Given the description of an element on the screen output the (x, y) to click on. 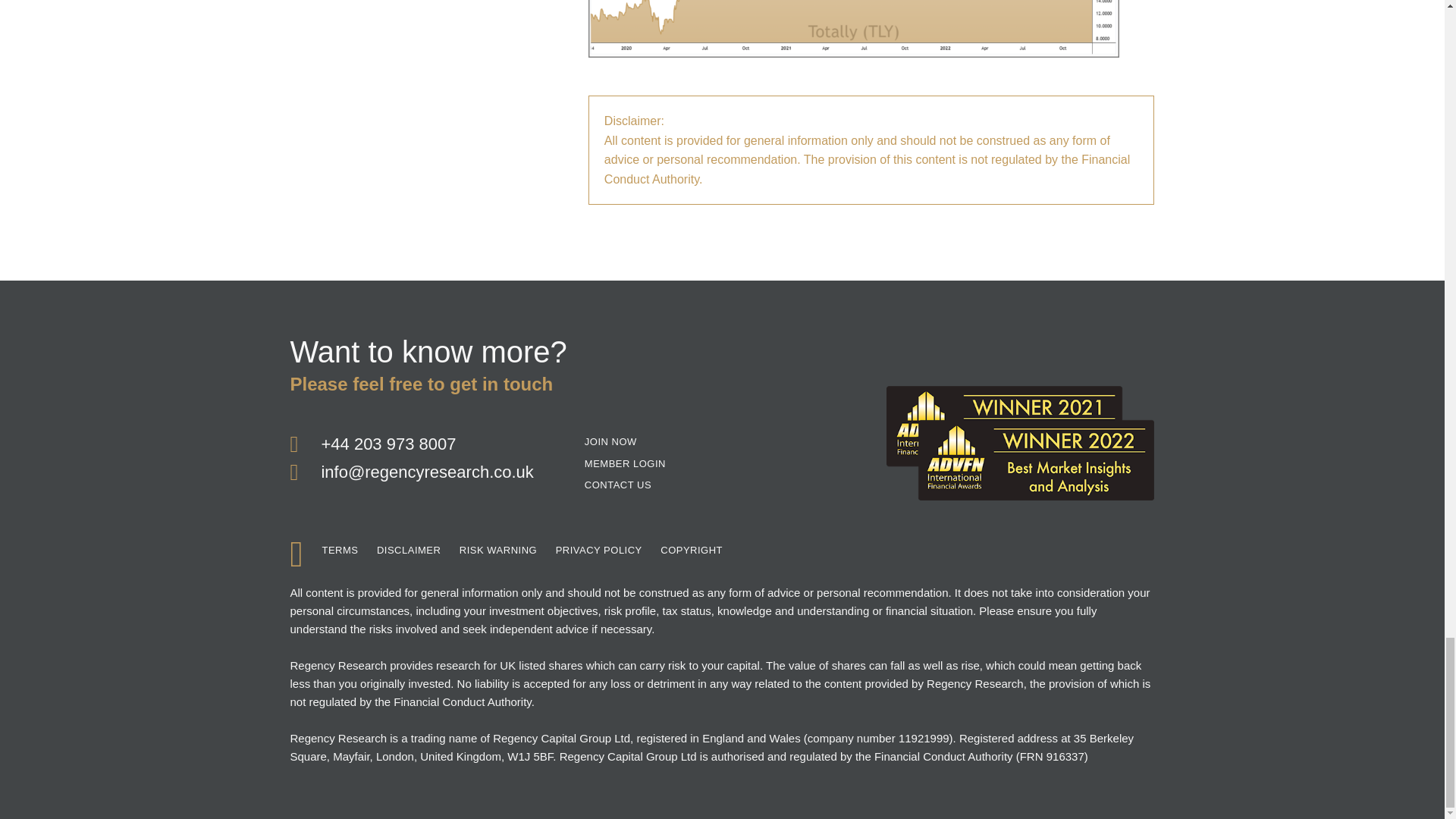
MEMBER LOGIN (625, 464)
PRIVACY POLICY (599, 550)
DISCLAIMER (409, 550)
JOIN NOW (611, 442)
TERMS (339, 550)
COPYRIGHT (691, 550)
RISK WARNING (498, 550)
CONTACT US (617, 485)
